Given the description of an element on the screen output the (x, y) to click on. 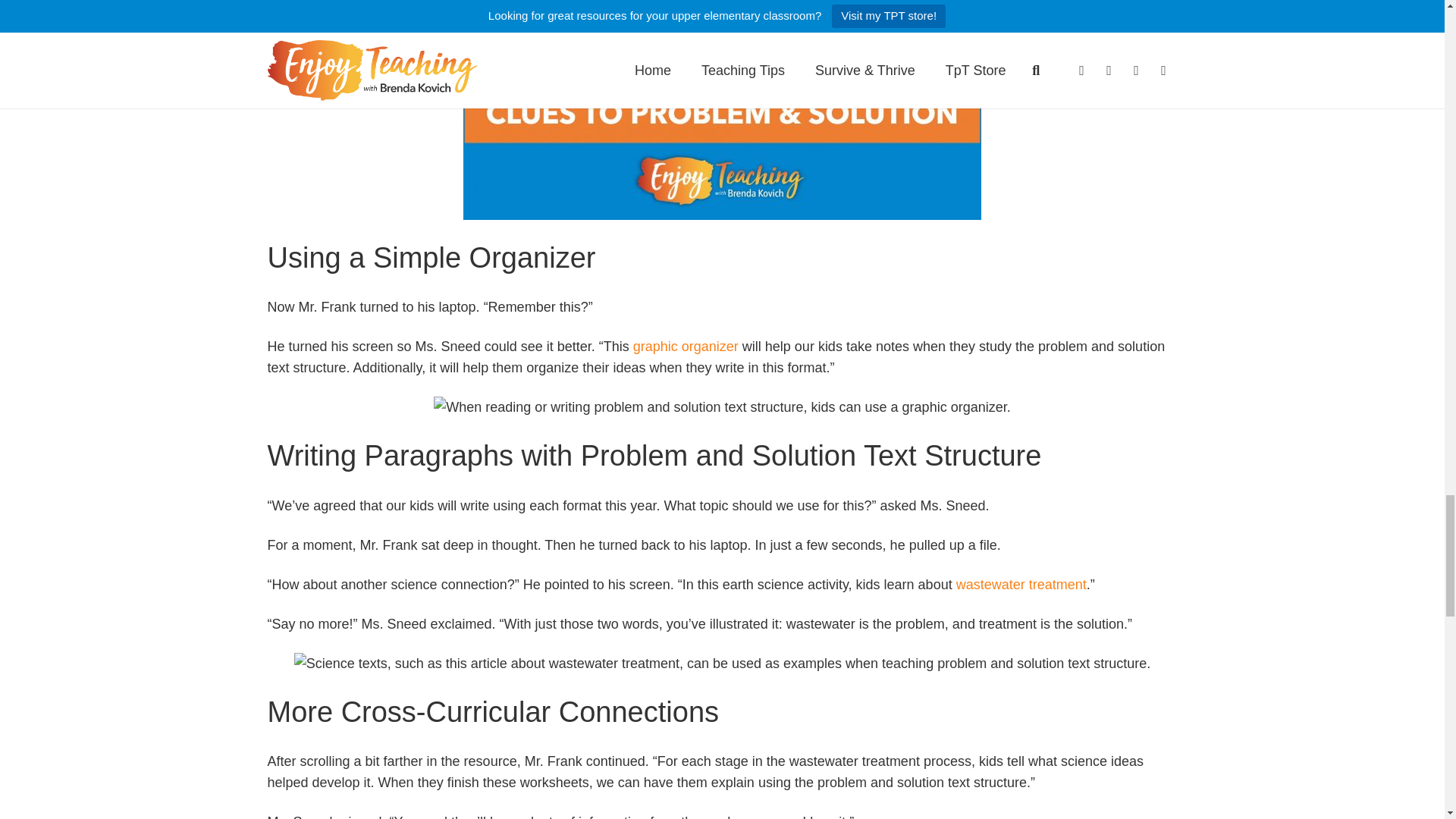
wastewater treatment (1021, 584)
graphic organizer (685, 346)
